Given the description of an element on the screen output the (x, y) to click on. 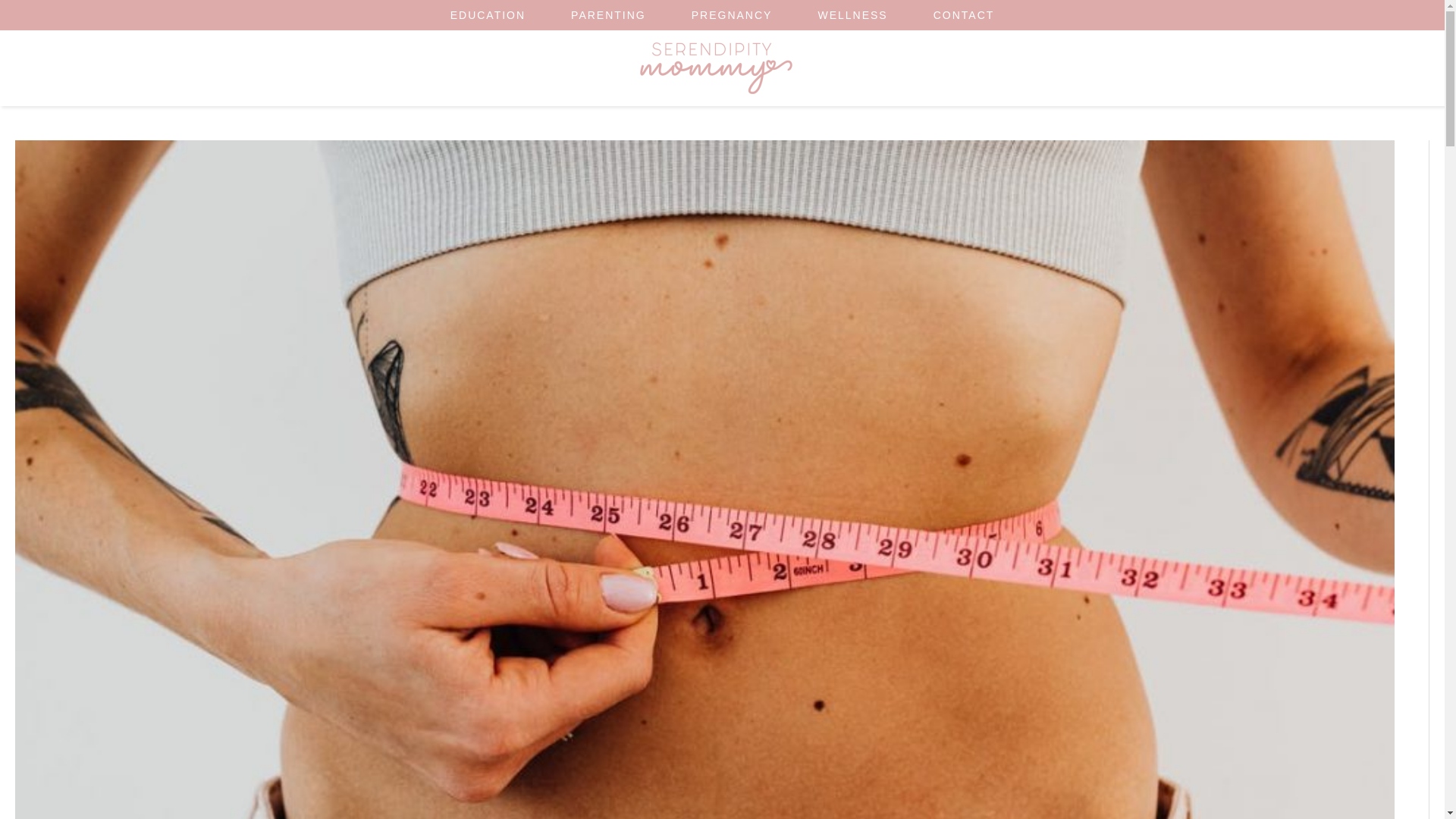
WELLNESS (852, 15)
PARENTING (608, 15)
CONTACT (964, 15)
EDUCATION (488, 15)
PREGNANCY (731, 15)
